Given the description of an element on the screen output the (x, y) to click on. 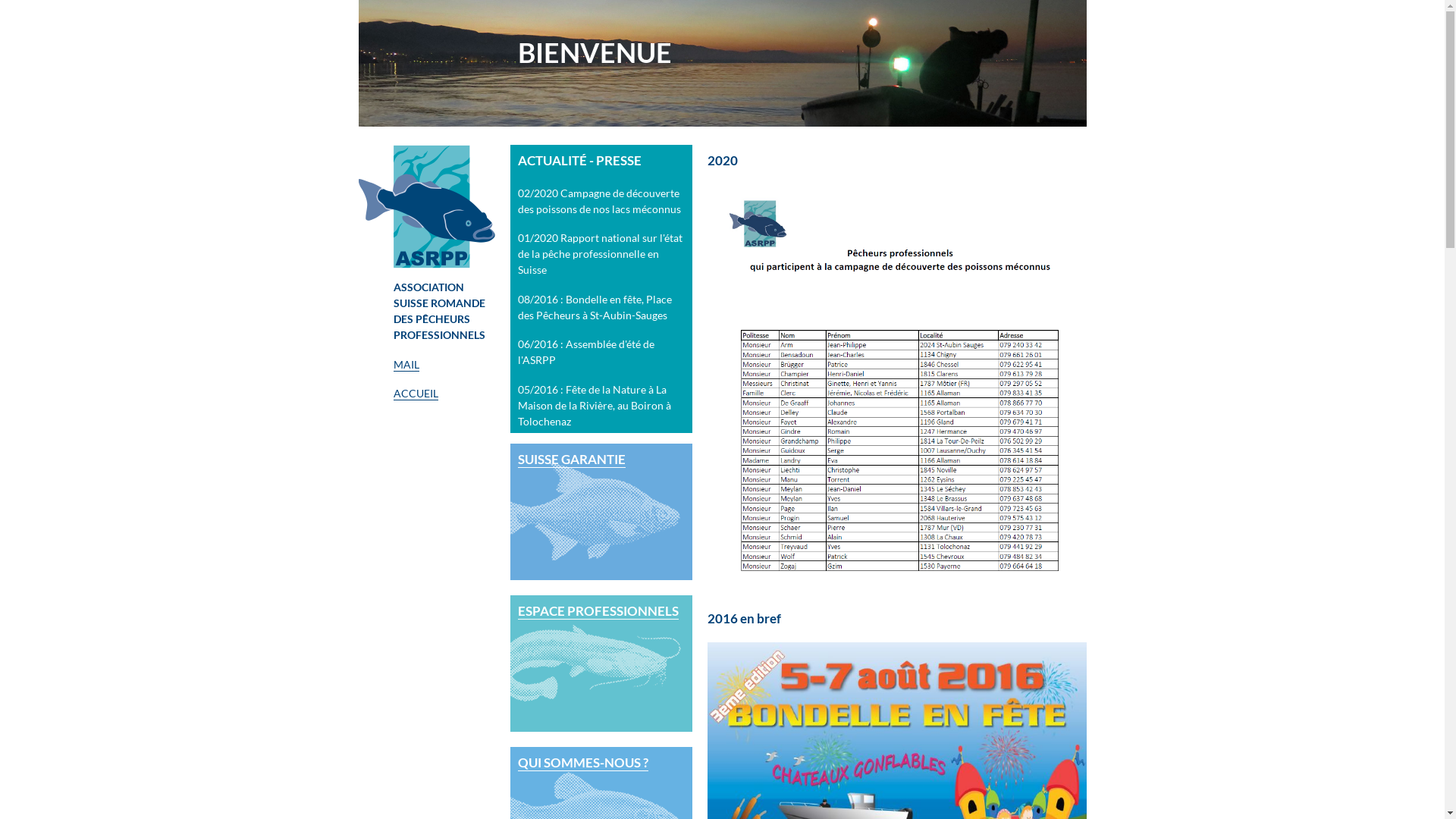
MAIL Element type: text (405, 364)
SUISSE GARANTIE Element type: text (600, 511)
ESPACE PROFESSIONNELS Element type: text (600, 663)
ACCUEIL Element type: text (414, 393)
